Given the description of an element on the screen output the (x, y) to click on. 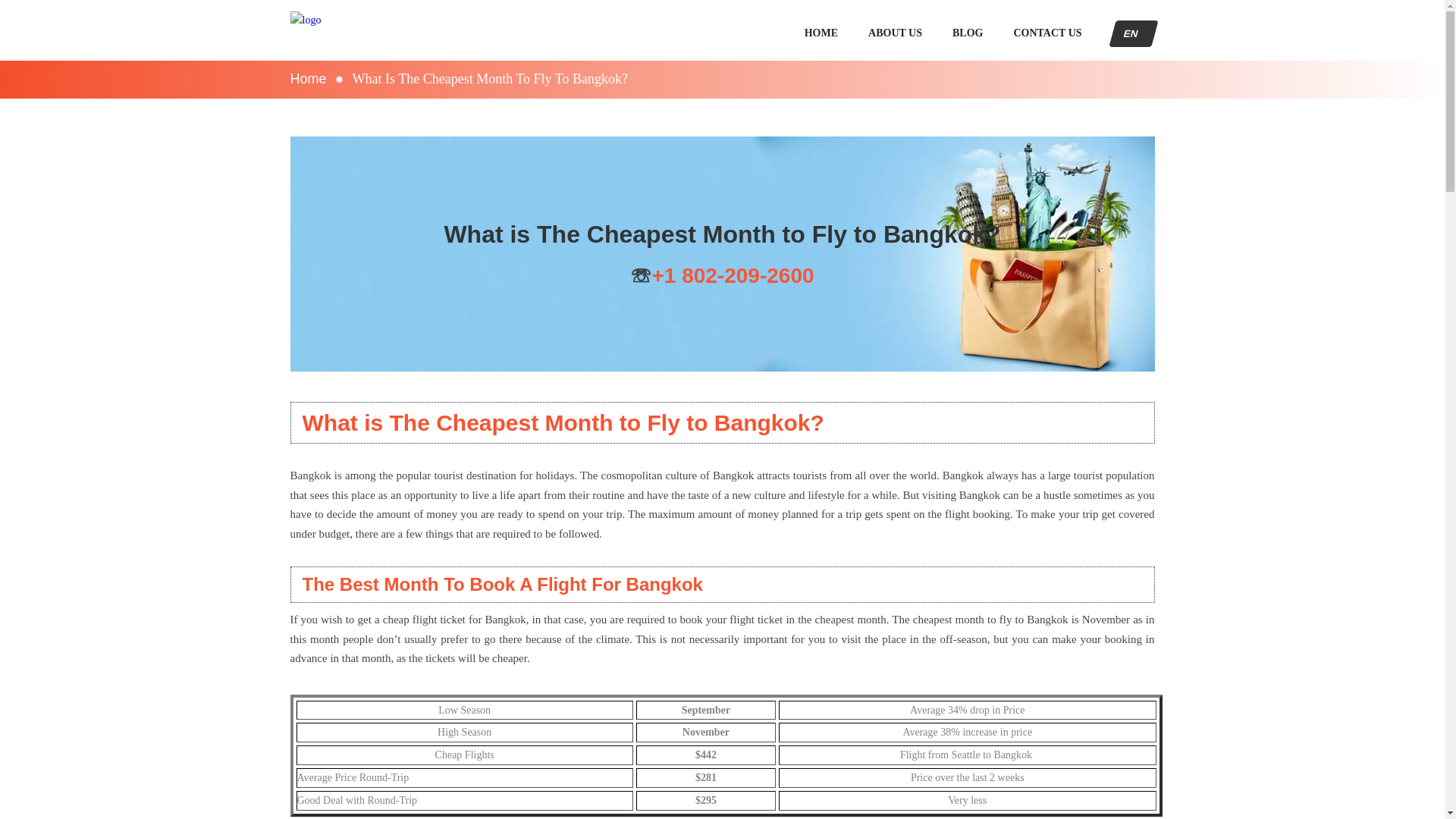
EN   (1129, 33)
HOME (821, 32)
CONTACT US (1047, 32)
ABOUT US (894, 32)
Home (307, 78)
Home (346, 30)
BLOG (967, 32)
